Given the description of an element on the screen output the (x, y) to click on. 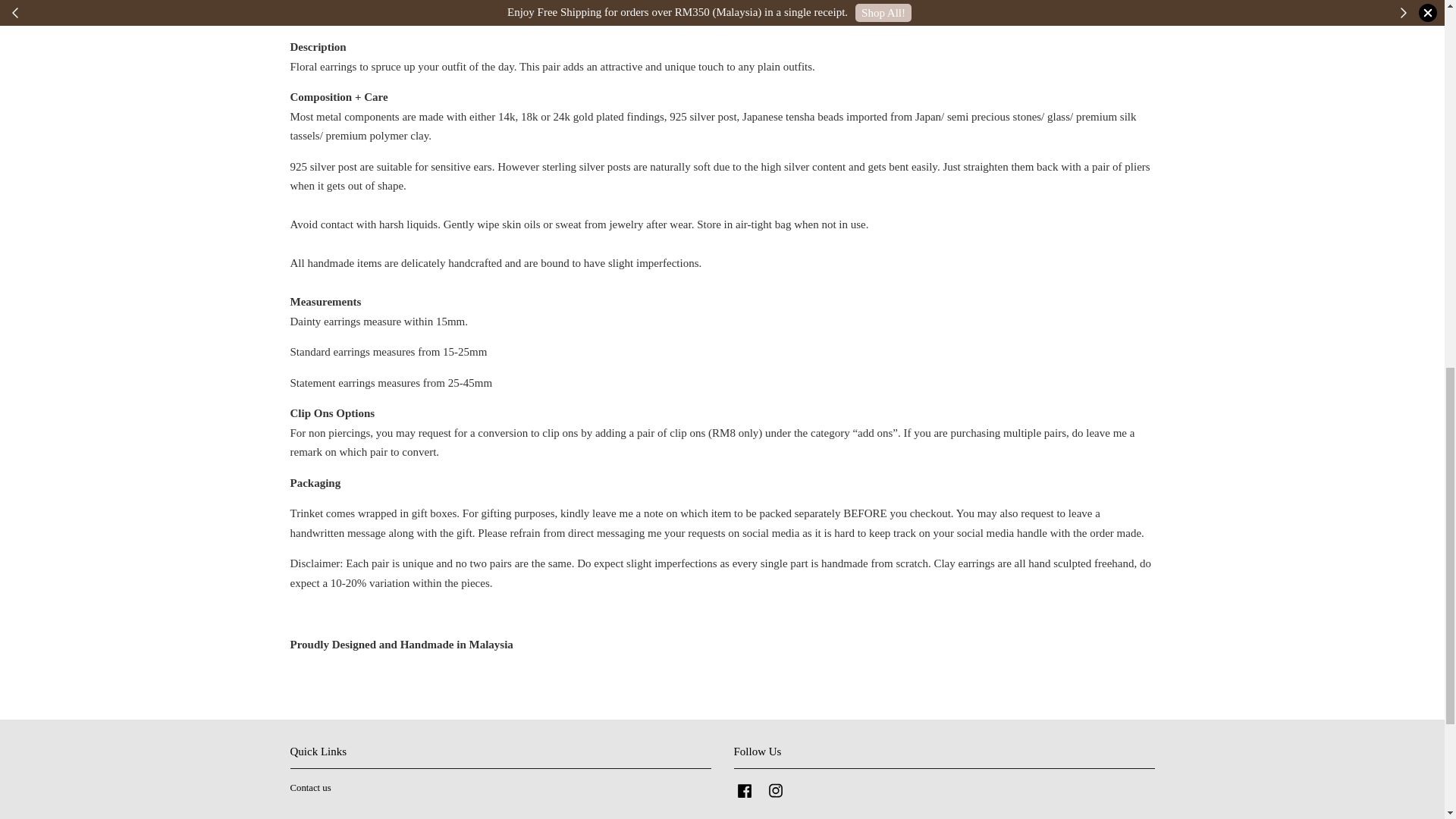
icon-instagram (775, 790)
Diary of a Miniature Enthusiast on Facebook (744, 798)
Diary of a Miniature Enthusiast on Instagram (775, 798)
icon-facebook (744, 790)
